Given the description of an element on the screen output the (x, y) to click on. 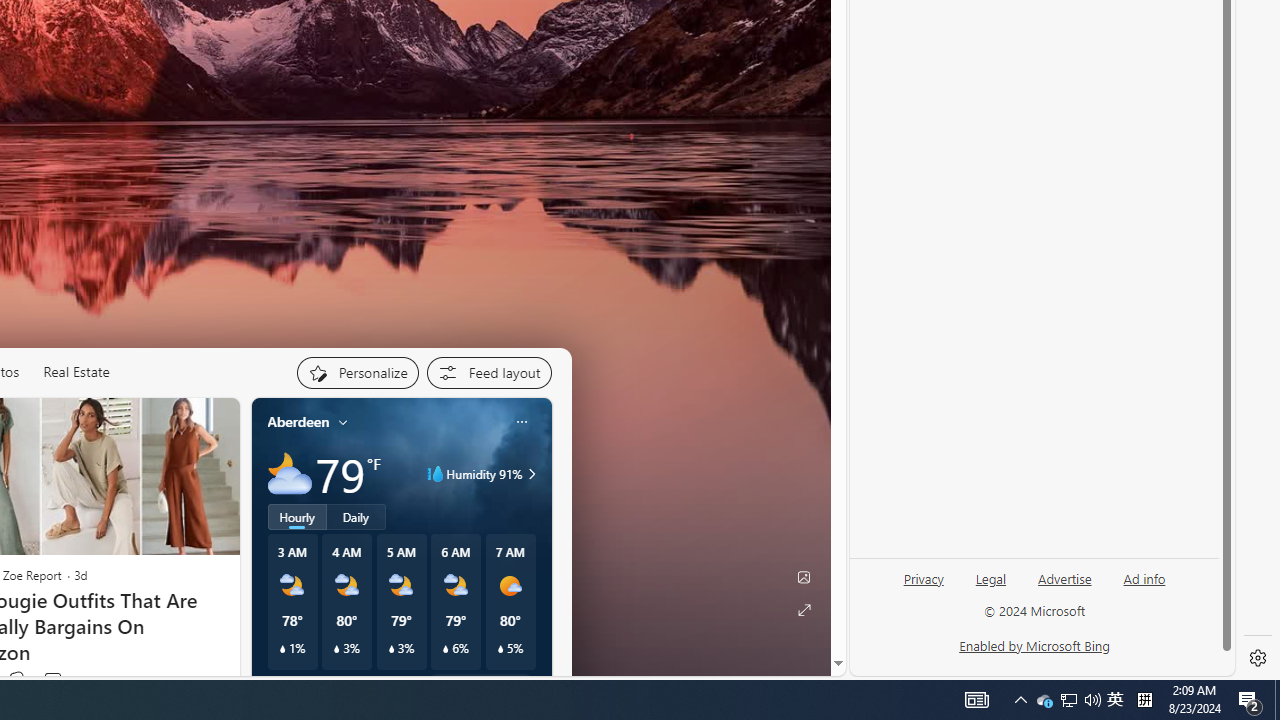
Class: weather-current-precipitation-glyph (500, 649)
Edit Background (803, 577)
Ad info (1144, 587)
Daily (356, 516)
See full forecast (480, 685)
Personalize your feed" (356, 372)
